Given the description of an element on the screen output the (x, y) to click on. 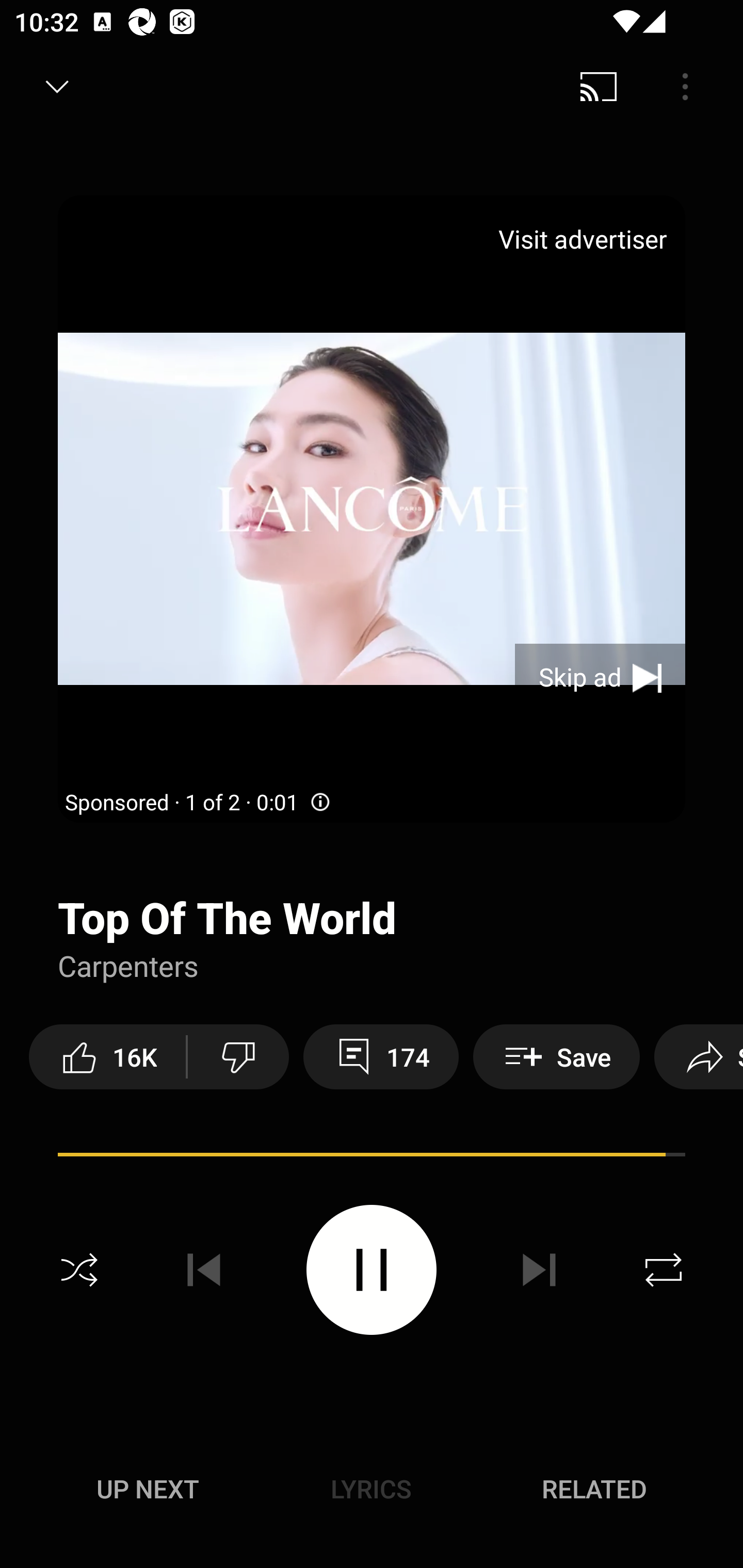
Minimize (57, 86)
Cast. Disconnected (598, 86)
Menu (684, 86)
Visit advertiser (586, 239)
Skip ad (599, 678)
Sponsored · 1 of 2 · 0:02 (198, 802)
16K like this video along with 16,159 other people (106, 1056)
Dislike (238, 1056)
174 View 174 comments (380, 1056)
Save Save to playlist (556, 1056)
Share (698, 1056)
Action menu (371, 1157)
Pause video (371, 1269)
Shuffle off (79, 1269)
Previous track disabled (203, 1269)
Next track disabled (538, 1269)
Repeat off (663, 1269)
Lyrics LYRICS (370, 1488)
Related RELATED (594, 1488)
